Given the description of an element on the screen output the (x, y) to click on. 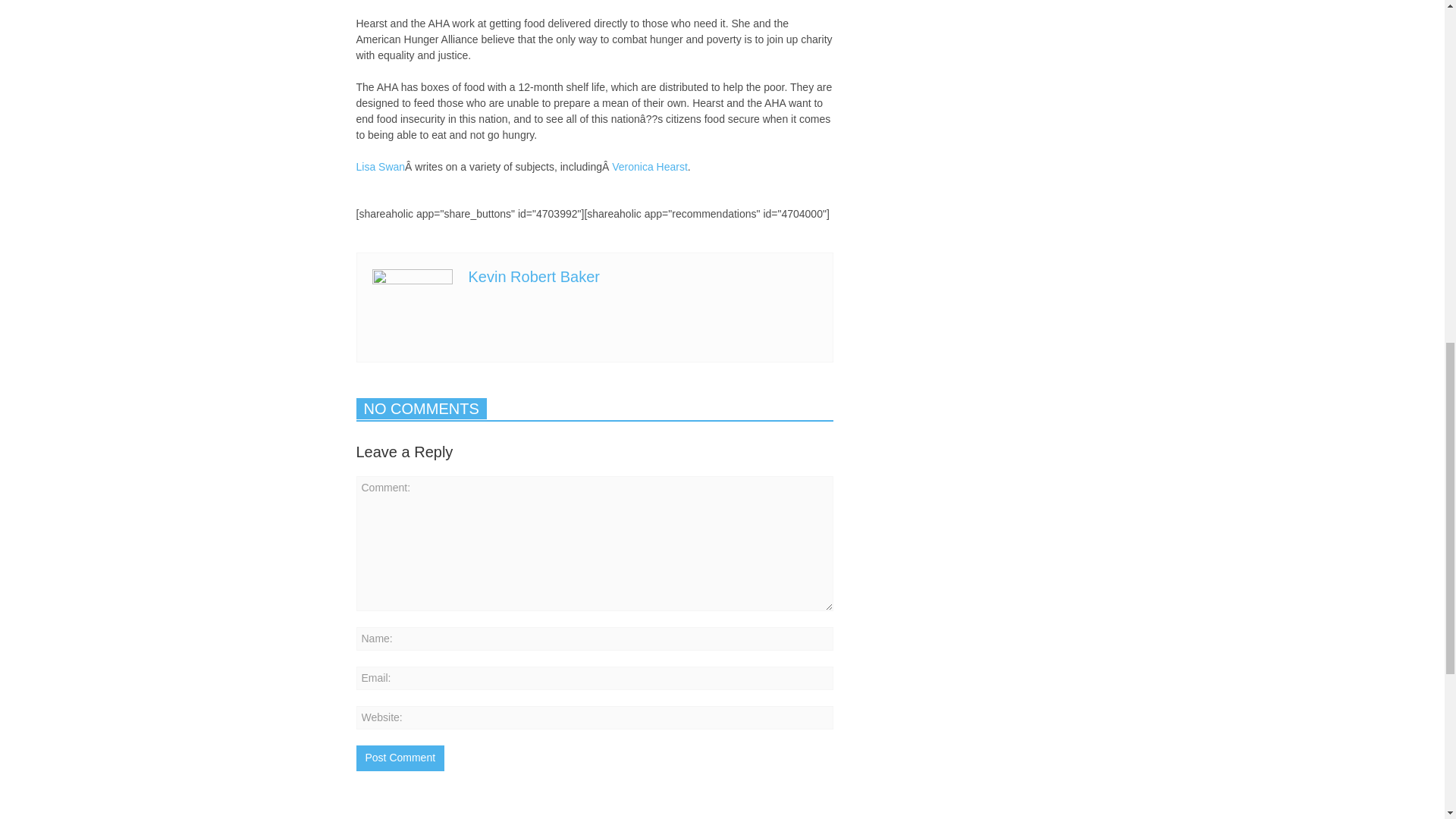
Veronica Hearst (649, 166)
Kevin Robert Baker (533, 276)
Post Comment (400, 758)
Post Comment (400, 758)
Lisa Swan (381, 166)
